Given the description of an element on the screen output the (x, y) to click on. 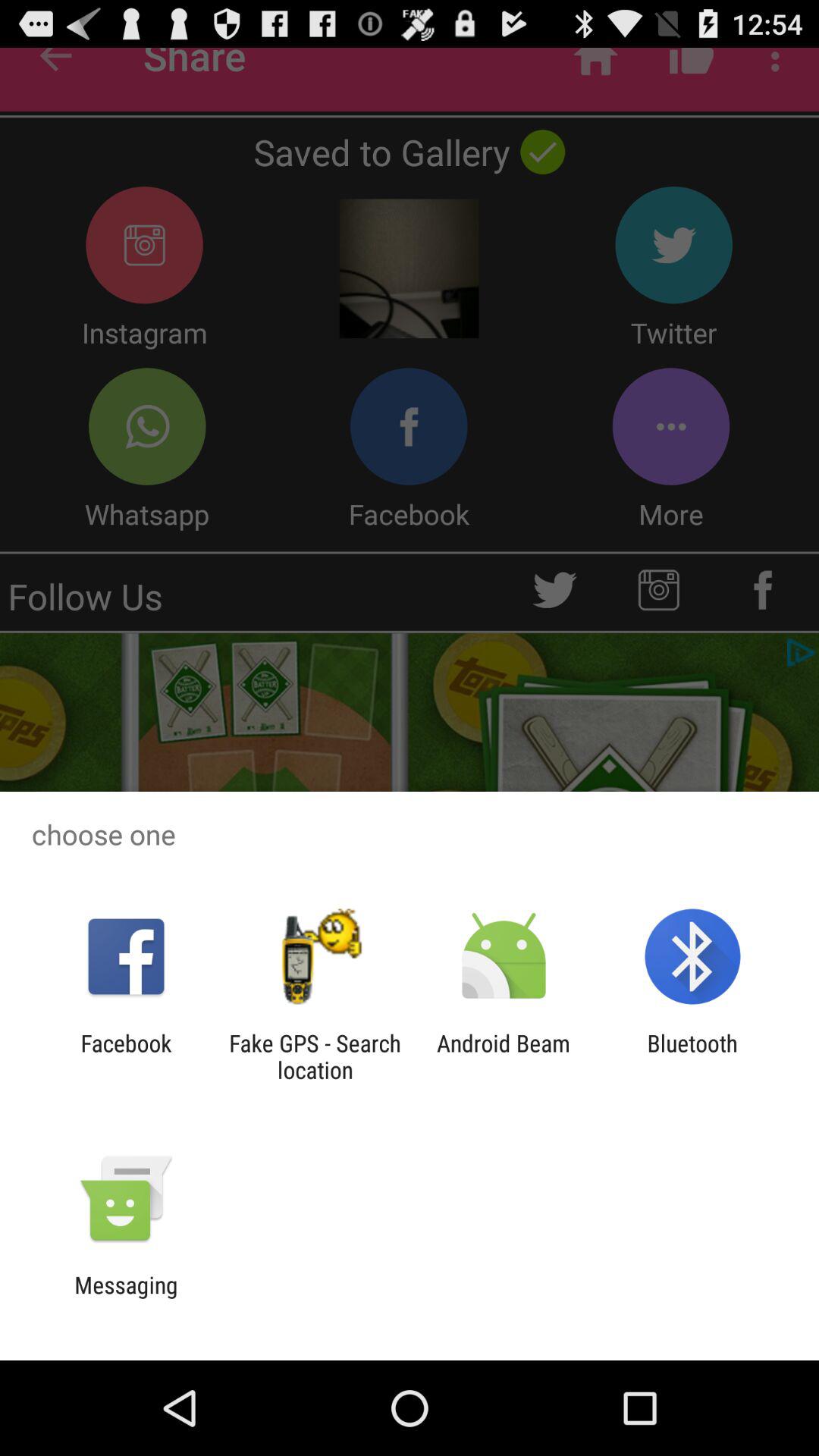
press facebook icon (125, 1056)
